Given the description of an element on the screen output the (x, y) to click on. 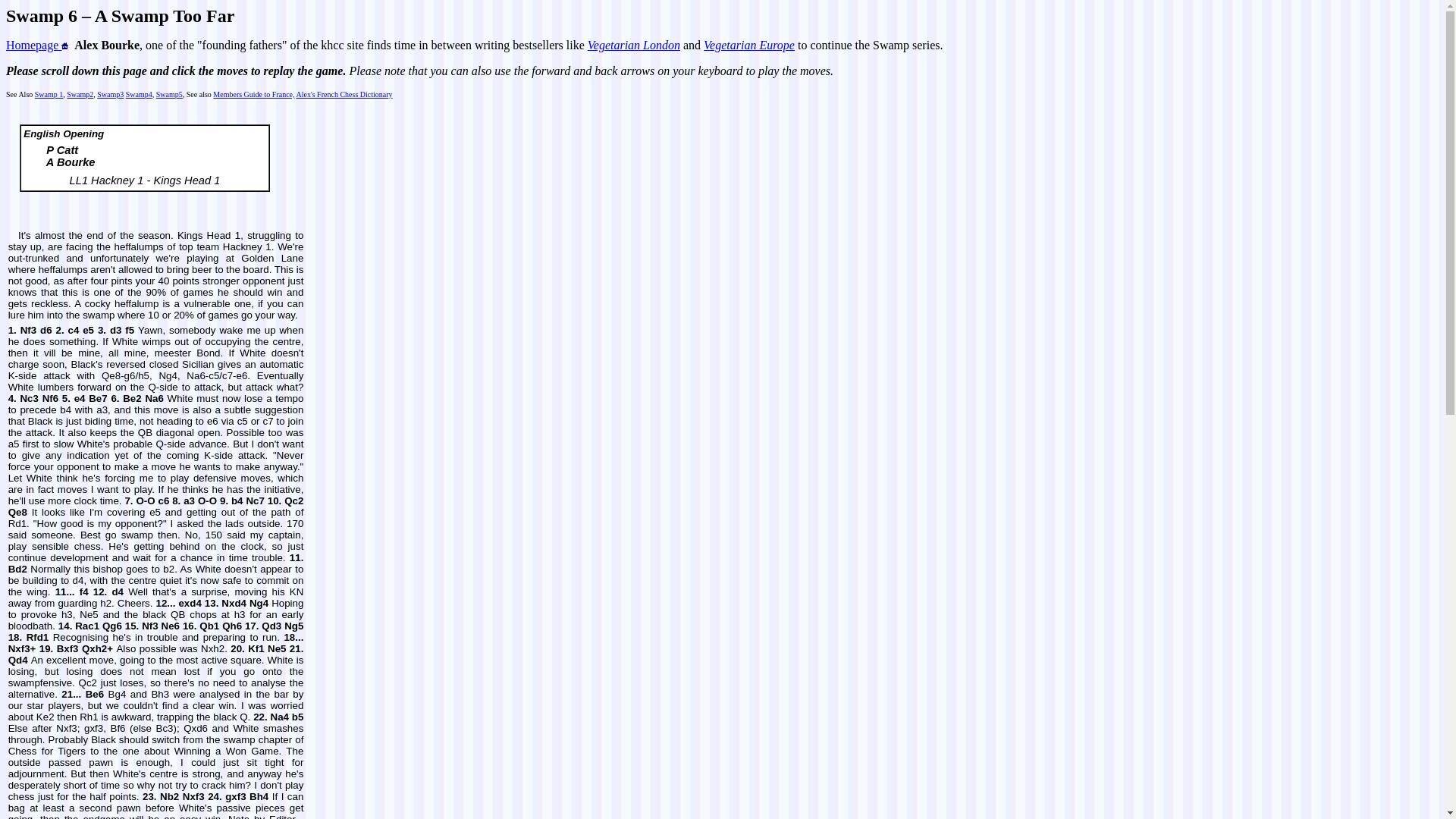
e5 (88, 329)
e4 (79, 398)
Homepage (36, 44)
Ng4 (257, 603)
d3 (116, 329)
Swamp5 (169, 94)
Bd2 (17, 568)
Alex's French Chess Dictionary (343, 94)
Be2 (131, 398)
Swamp3 (110, 94)
Rac1 (87, 625)
exd4 (188, 603)
Qe8 (17, 511)
c6 (162, 500)
Swamp4 (138, 94)
